Given the description of an element on the screen output the (x, y) to click on. 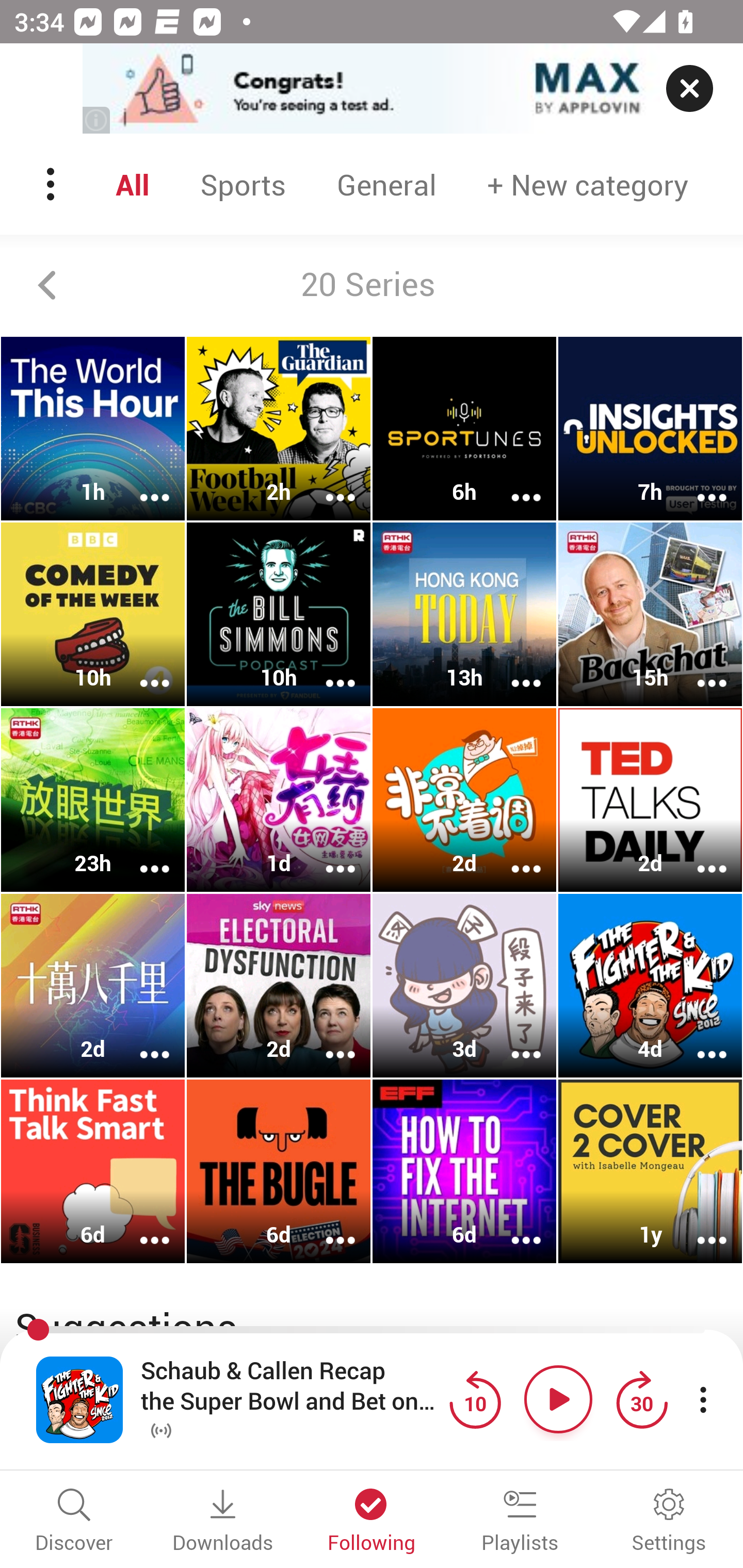
app-monetization (371, 88)
(i) (96, 119)
Menu (52, 184)
All (132, 184)
Sports (242, 184)
General (386, 184)
New category + New category (588, 184)
20 Series (371, 285)
The World This Hour 1h More options More options (92, 428)
Football Weekly 2h More options More options (278, 428)
Sportunes HK 6h More options More options (464, 428)
Insights Unlocked 7h More options More options (650, 428)
More options (141, 484)
More options (326, 484)
More options (512, 484)
More options (698, 484)
Comedy of the Week 10h More options More options (92, 614)
Hong Kong Today 13h More options More options (464, 614)
Backchat 15h More options More options (650, 614)
More options (141, 669)
More options (326, 669)
More options (512, 669)
More options (698, 669)
放眼世界 23h More options More options (92, 799)
女王有药丨爆笑脱口秀 1d More options More options (278, 799)
非常不着调 2d More options More options (464, 799)
TED Talks Daily 2d More options More options (650, 799)
More options (141, 856)
More options (326, 856)
More options (512, 856)
More options (698, 856)
十萬八千里 2d More options More options (92, 985)
Electoral Dysfunction 2d More options More options (278, 985)
段子来了 3d More options More options (464, 985)
The Fighter & The Kid 4d More options More options (650, 985)
More options (141, 1041)
More options (326, 1041)
More options (512, 1041)
More options (698, 1041)
The Bugle 6d More options More options (278, 1170)
Cover 2 Cover 1y More options More options (650, 1170)
More options (141, 1227)
More options (326, 1227)
More options (512, 1227)
More options (698, 1227)
Open fullscreen player (79, 1399)
More player controls (703, 1399)
Play button (558, 1398)
Jump back (475, 1399)
Jump forward (641, 1399)
Discover (74, 1521)
Downloads (222, 1521)
Following (371, 1521)
Playlists (519, 1521)
Settings (668, 1521)
